Given the description of an element on the screen output the (x, y) to click on. 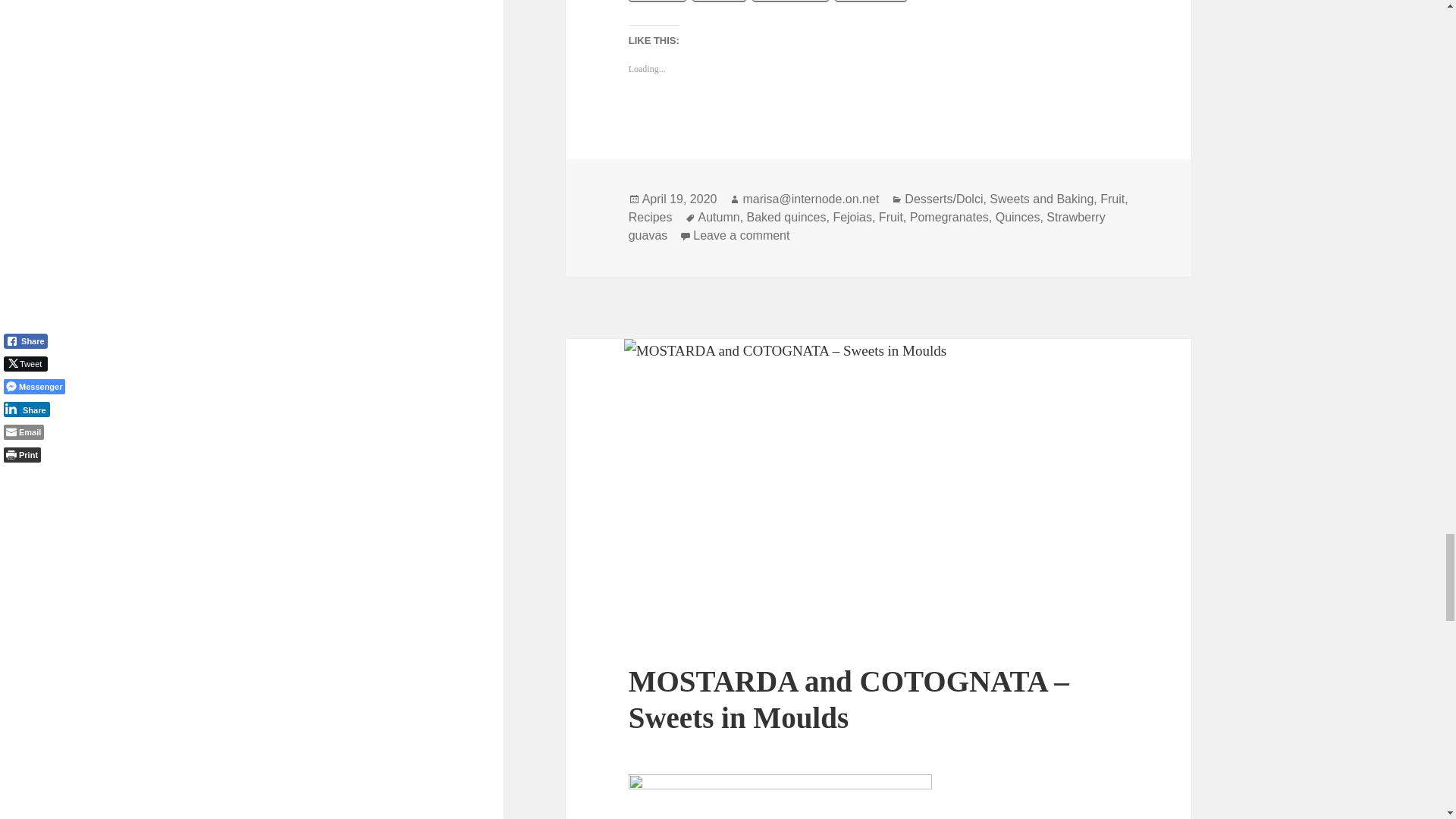
Click to share on Facebook (790, 0)
Click to print (719, 0)
Click to share on Pinterest (870, 0)
Click to email a link to a friend (657, 0)
